Given the description of an element on the screen output the (x, y) to click on. 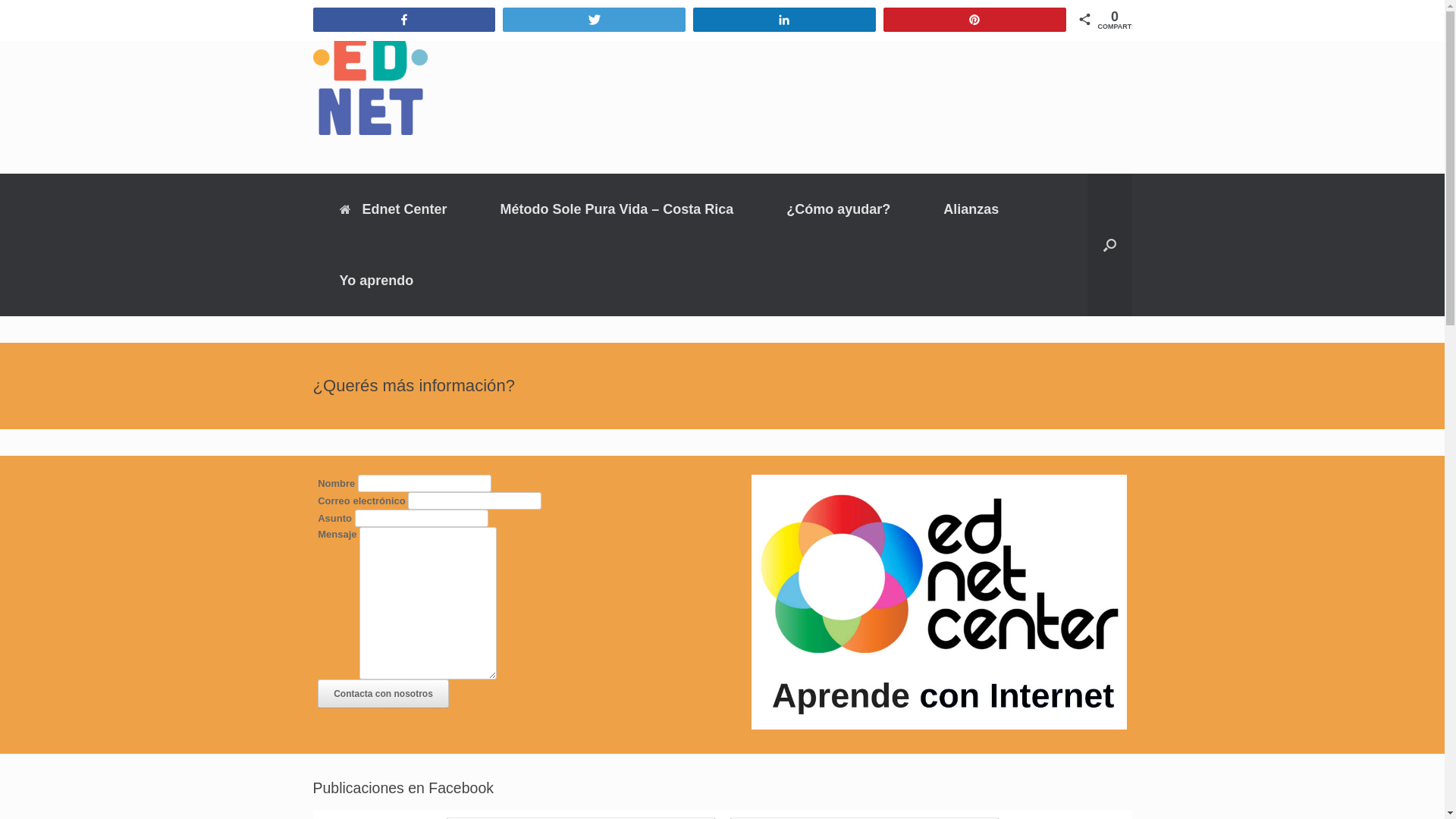
Contacta con nosotros Element type: text (382, 693)
Yo aprendo Element type: text (375, 279)
Ednet Center Element type: text (392, 208)
Alianzas Element type: text (970, 208)
